Given the description of an element on the screen output the (x, y) to click on. 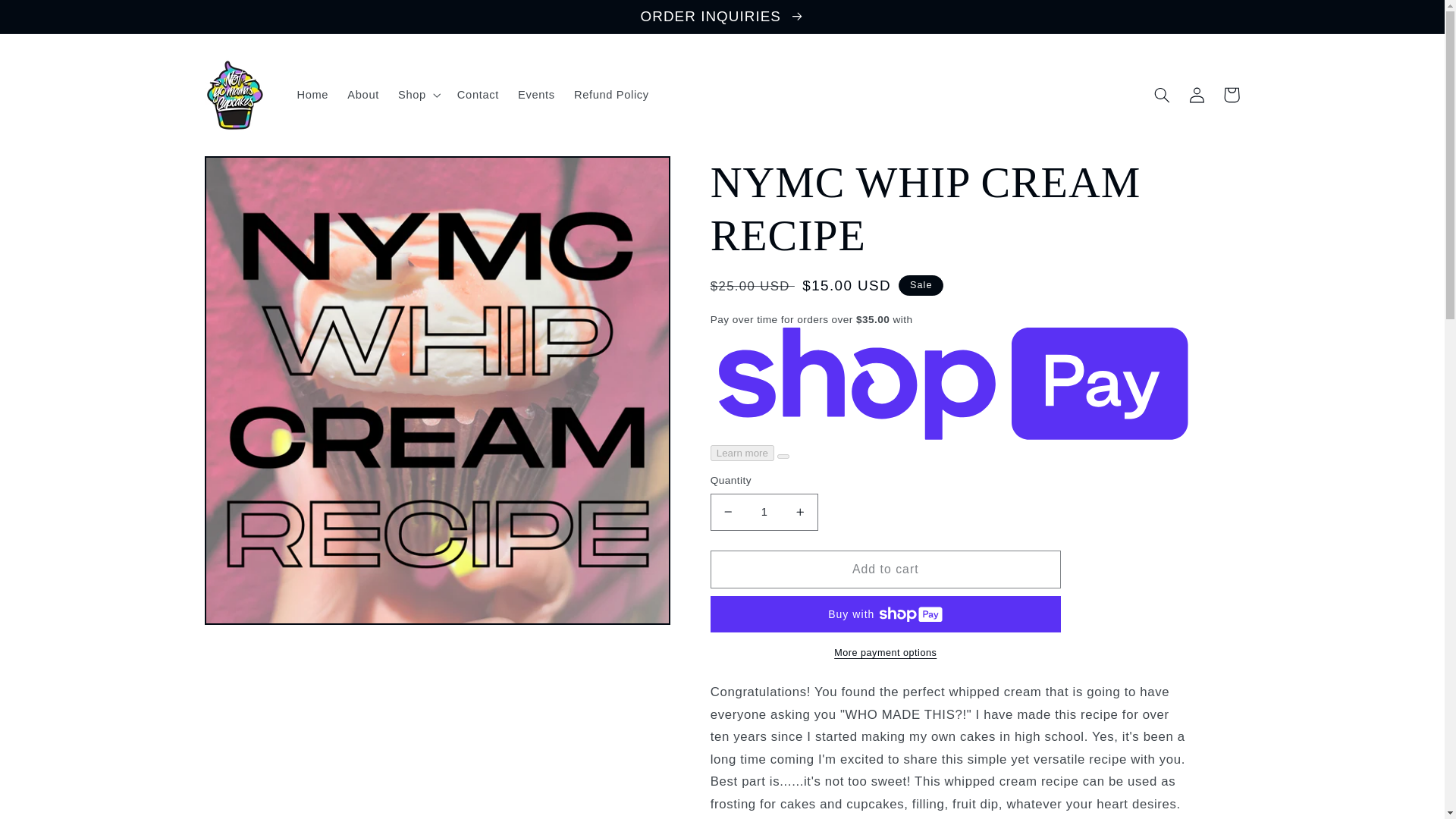
Increase quantity for NYMC WHIP CREAM RECIPE (799, 511)
Events (536, 94)
Decrease quantity for NYMC WHIP CREAM RECIPE (728, 511)
Add to cart (885, 569)
Skip to content (48, 18)
Refund Policy (611, 94)
Cart (1231, 94)
Skip to product information (252, 173)
About (362, 94)
Home (311, 94)
Contact (477, 94)
Log in (1196, 94)
1 (764, 511)
More payment options (885, 652)
